Given the description of an element on the screen output the (x, y) to click on. 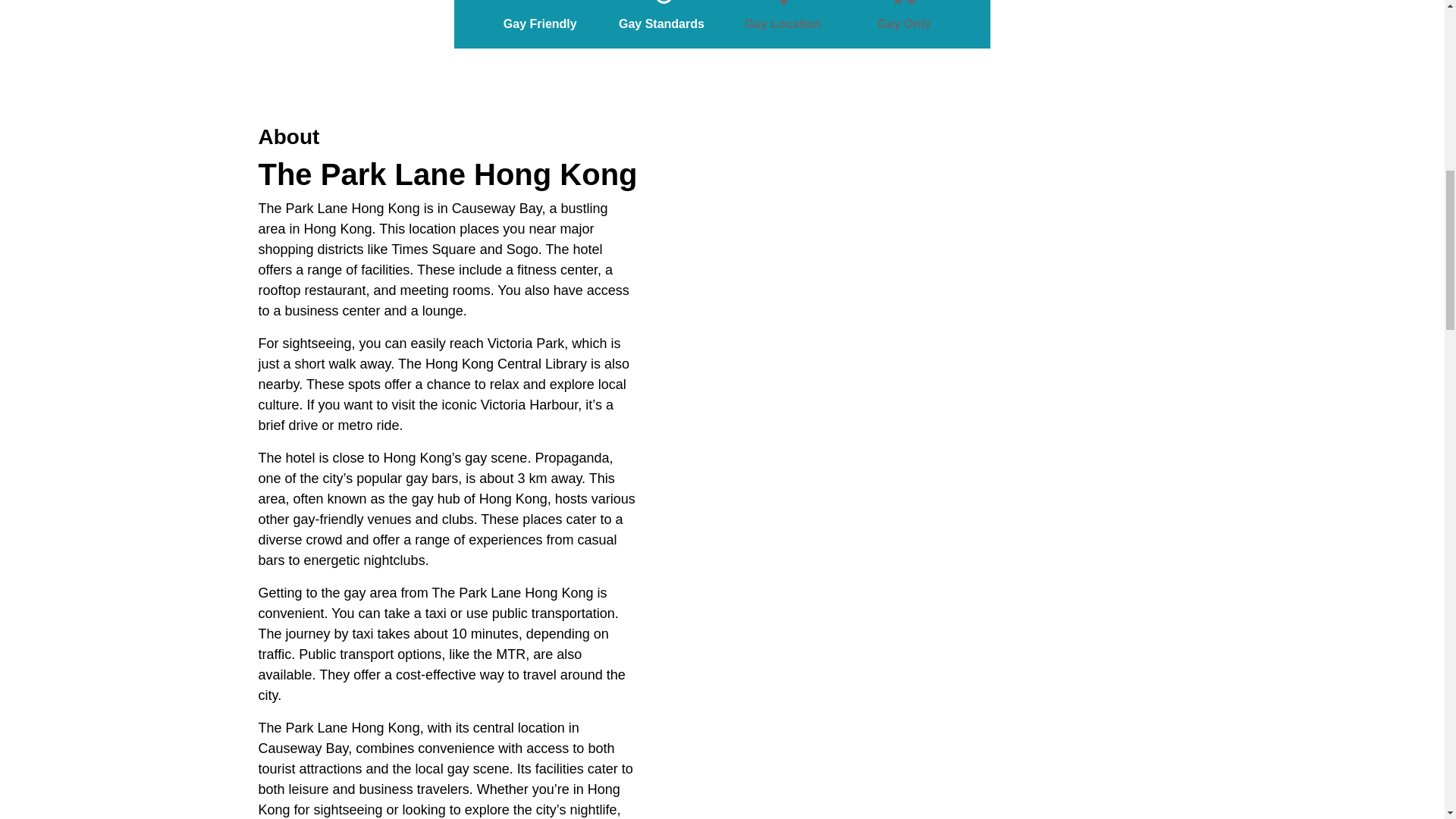
Gay Standards (660, 3)
Gay Only (904, 3)
Gay Friendly (540, 3)
Gay Location (783, 3)
